Given the description of an element on the screen output the (x, y) to click on. 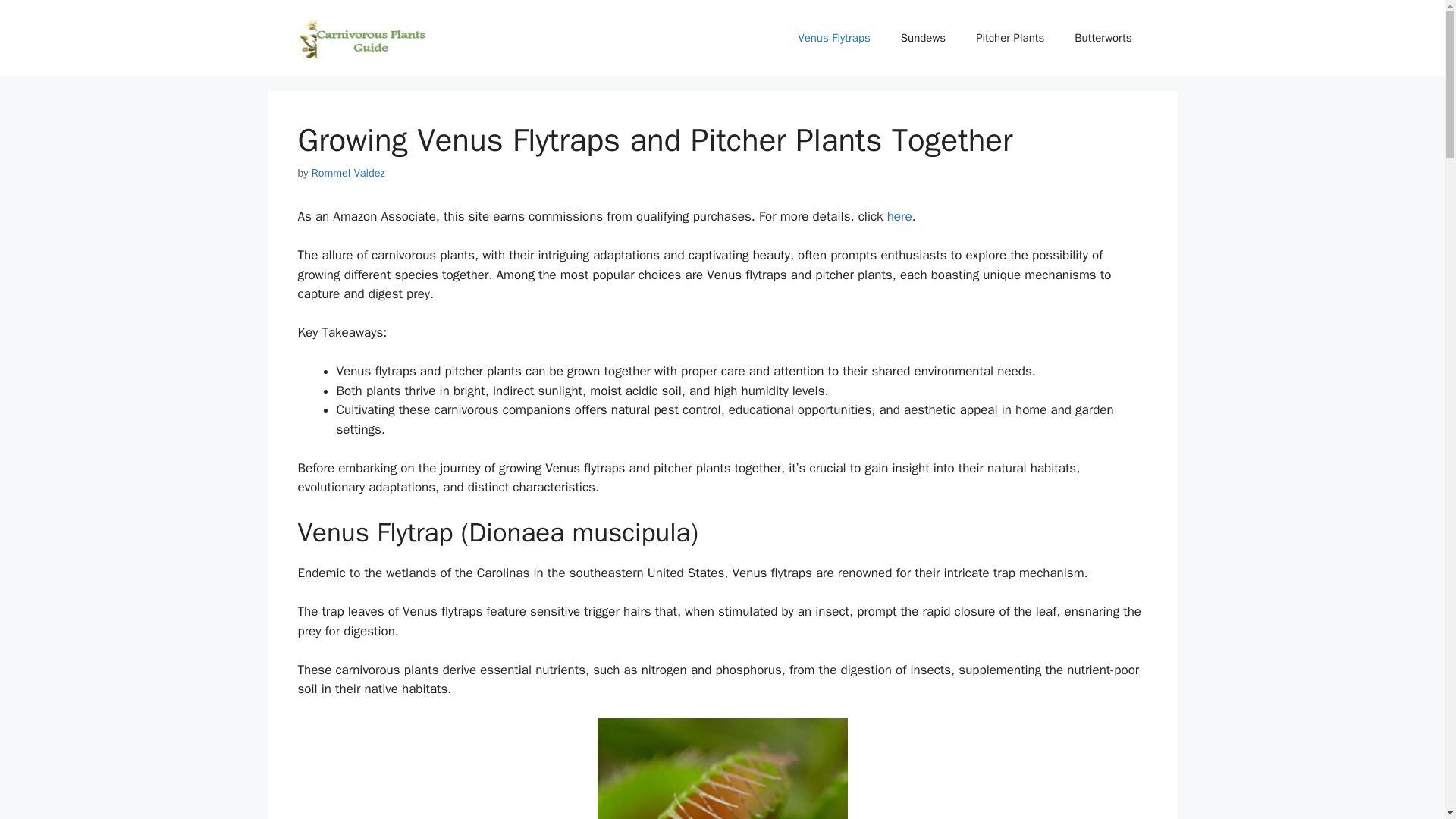
Rommel Valdez (348, 172)
View all posts by Rommel Valdez (348, 172)
Sundews (922, 37)
Pitcher Plants (1009, 37)
here (899, 216)
Venus Flytraps (834, 37)
Butterworts (1103, 37)
